Given the description of an element on the screen output the (x, y) to click on. 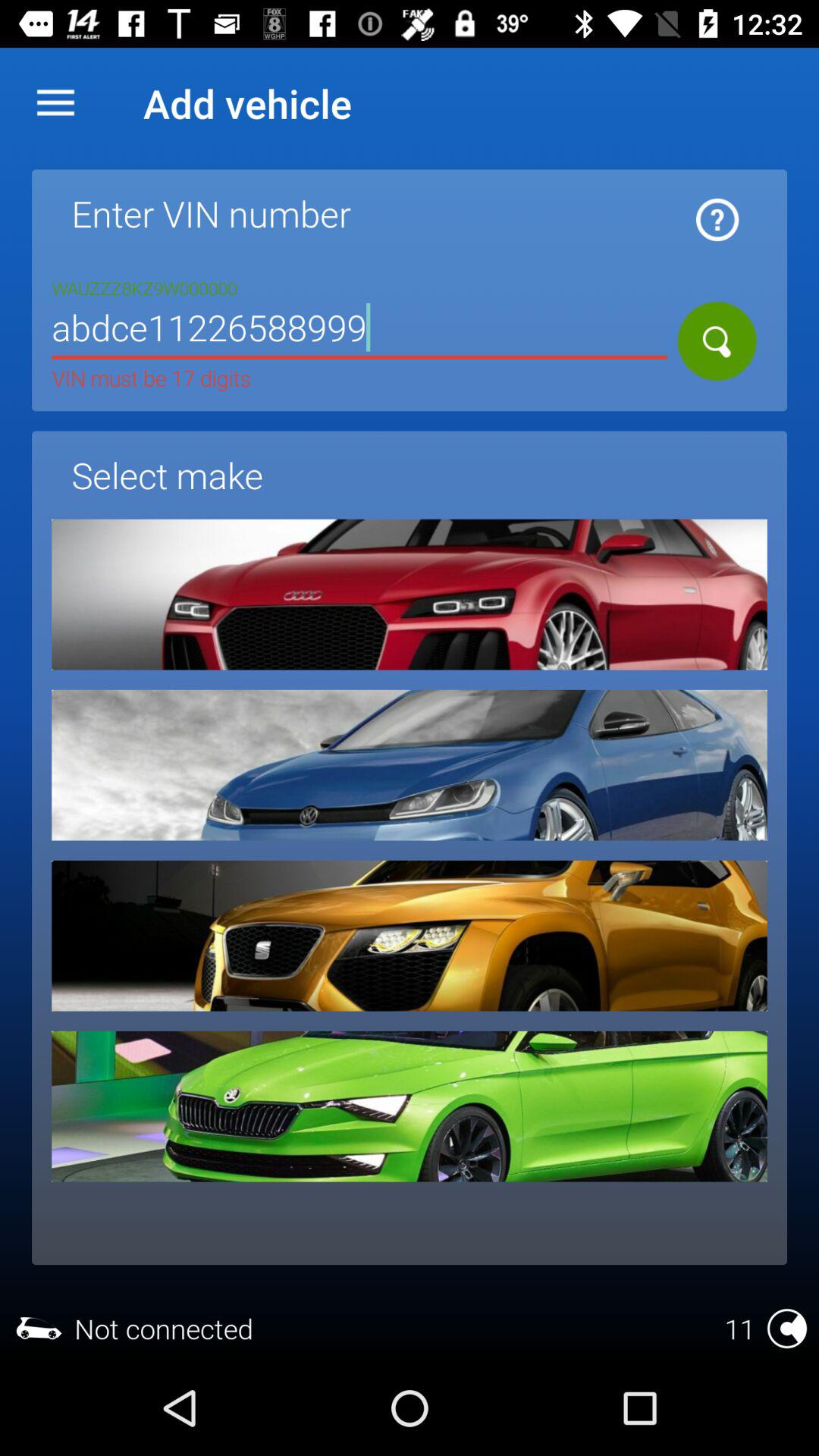
turn off abdce11226588999 icon (359, 330)
